Given the description of an element on the screen output the (x, y) to click on. 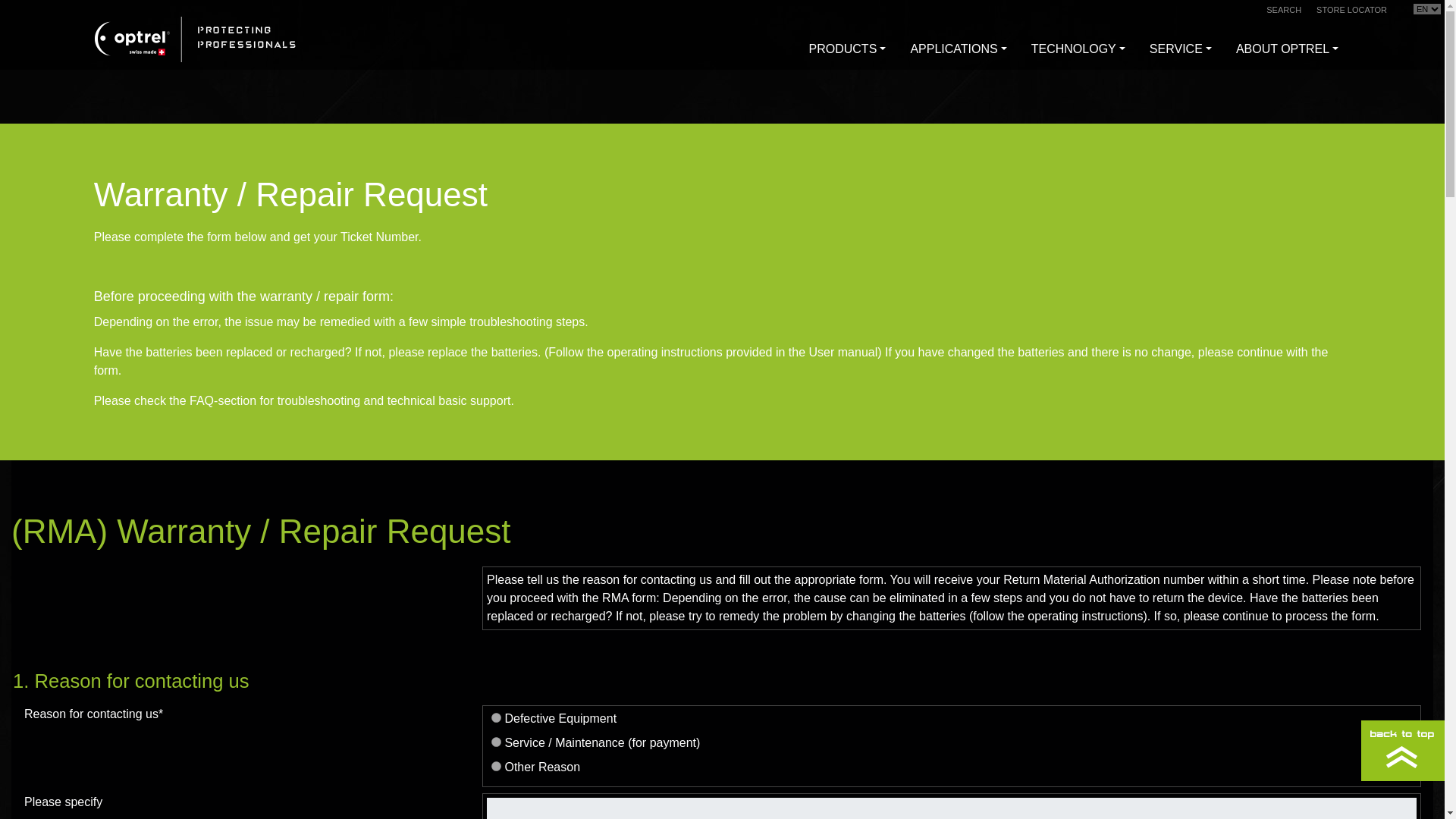
STORE LOCATOR (1351, 9)
Other Reason (496, 766)
optrel - Protecting Professionals since 1986 (194, 39)
Defective Equipment (496, 717)
TECHNOLOGY (1078, 50)
PRODUCTS (847, 50)
SEARCH (1283, 9)
APPLICATIONS (957, 50)
